Given the description of an element on the screen output the (x, y) to click on. 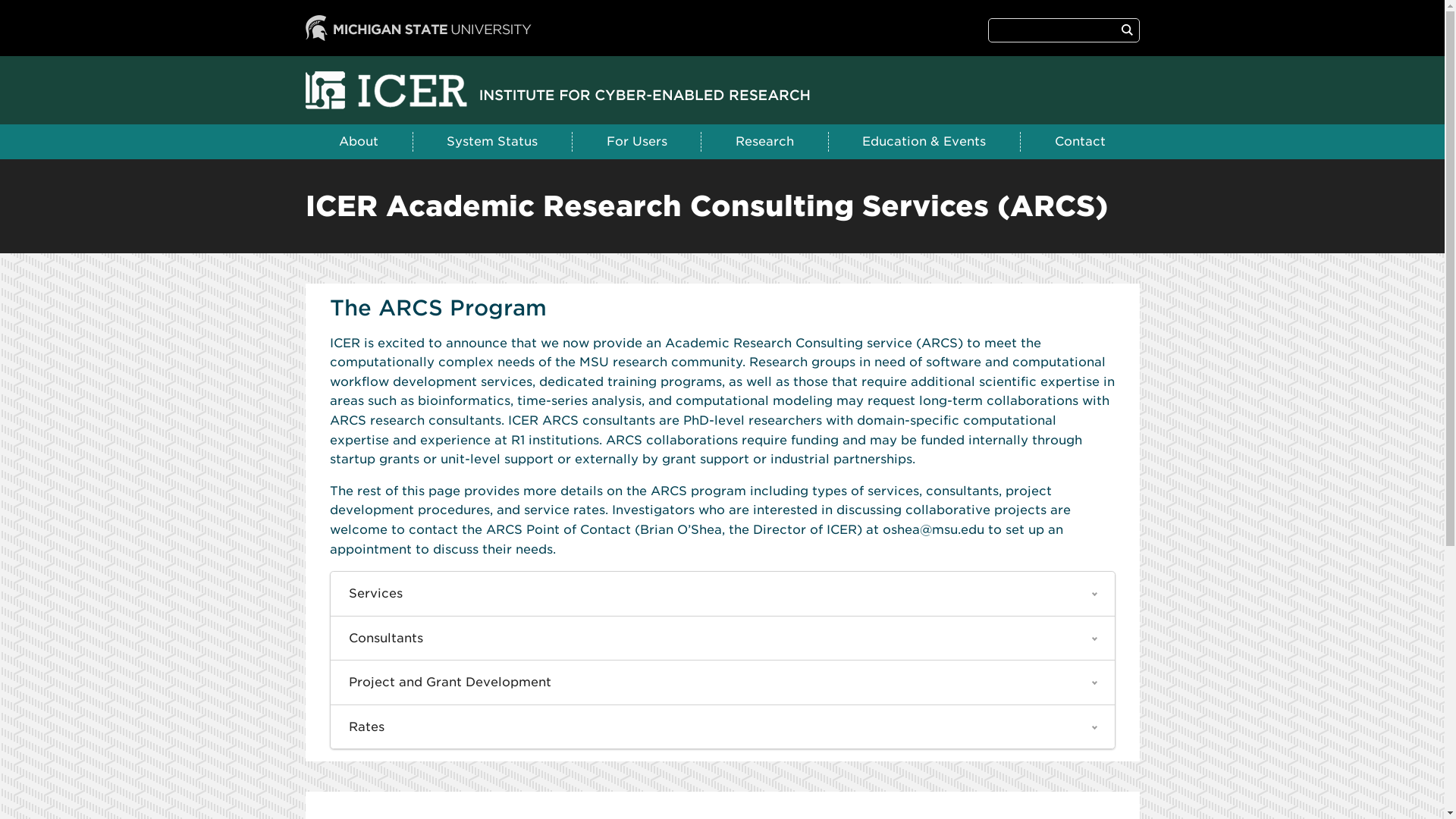
Search (1127, 30)
Enter the terms you wish to search for. (1053, 28)
Search (1127, 30)
